Given the description of an element on the screen output the (x, y) to click on. 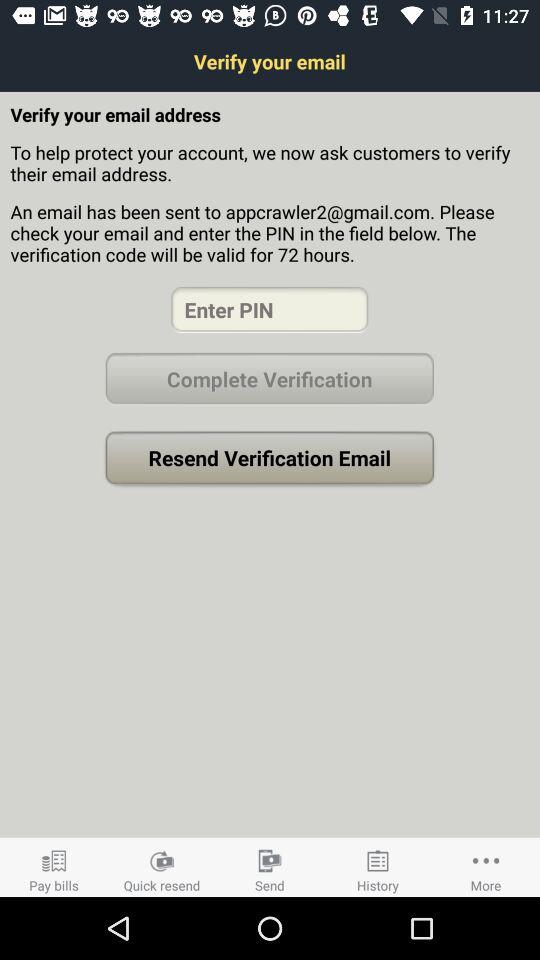
enter the data (269, 309)
